Given the description of an element on the screen output the (x, y) to click on. 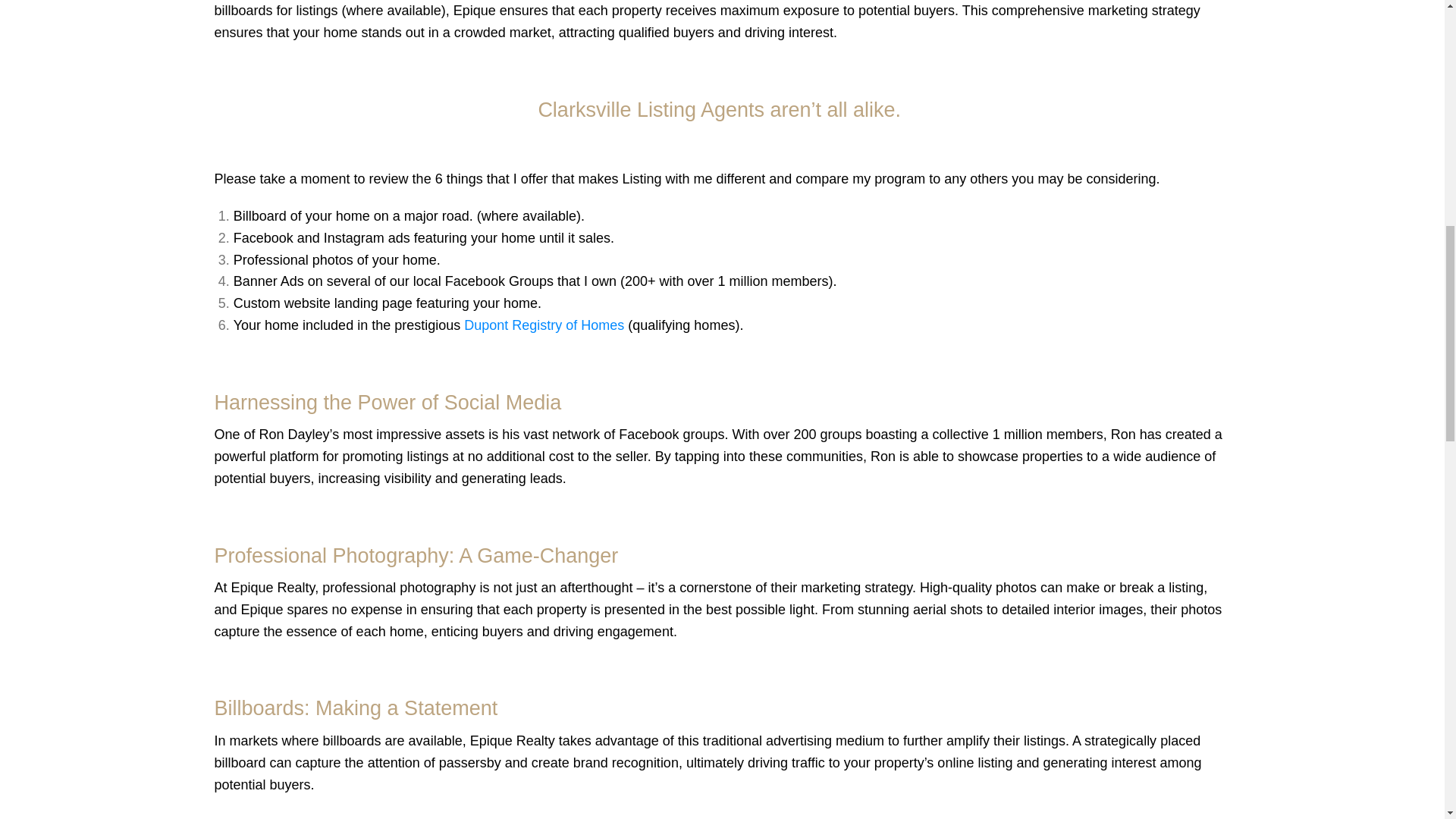
Clear Springs Subdivision (349, 107)
Glenwood Clarksville TN (349, 574)
Copperstone subdivision Clarksville TN (349, 192)
Holland Park West (349, 701)
Franklin Meadows Clarksville TN (349, 489)
Kirkwood Farms (349, 744)
Ellington Gait subdivision Clarksville TN (349, 404)
Glenstone Village (349, 532)
Cherry Fields Clarksville TN (349, 65)
Hampton Hills (349, 659)
Dunbar Bluff (349, 234)
Greystone Subdivision (349, 617)
Charleston Oaks (349, 1)
Cherry Acres (349, 23)
Eastland Green Clarksville TN (349, 362)
